Given the description of an element on the screen output the (x, y) to click on. 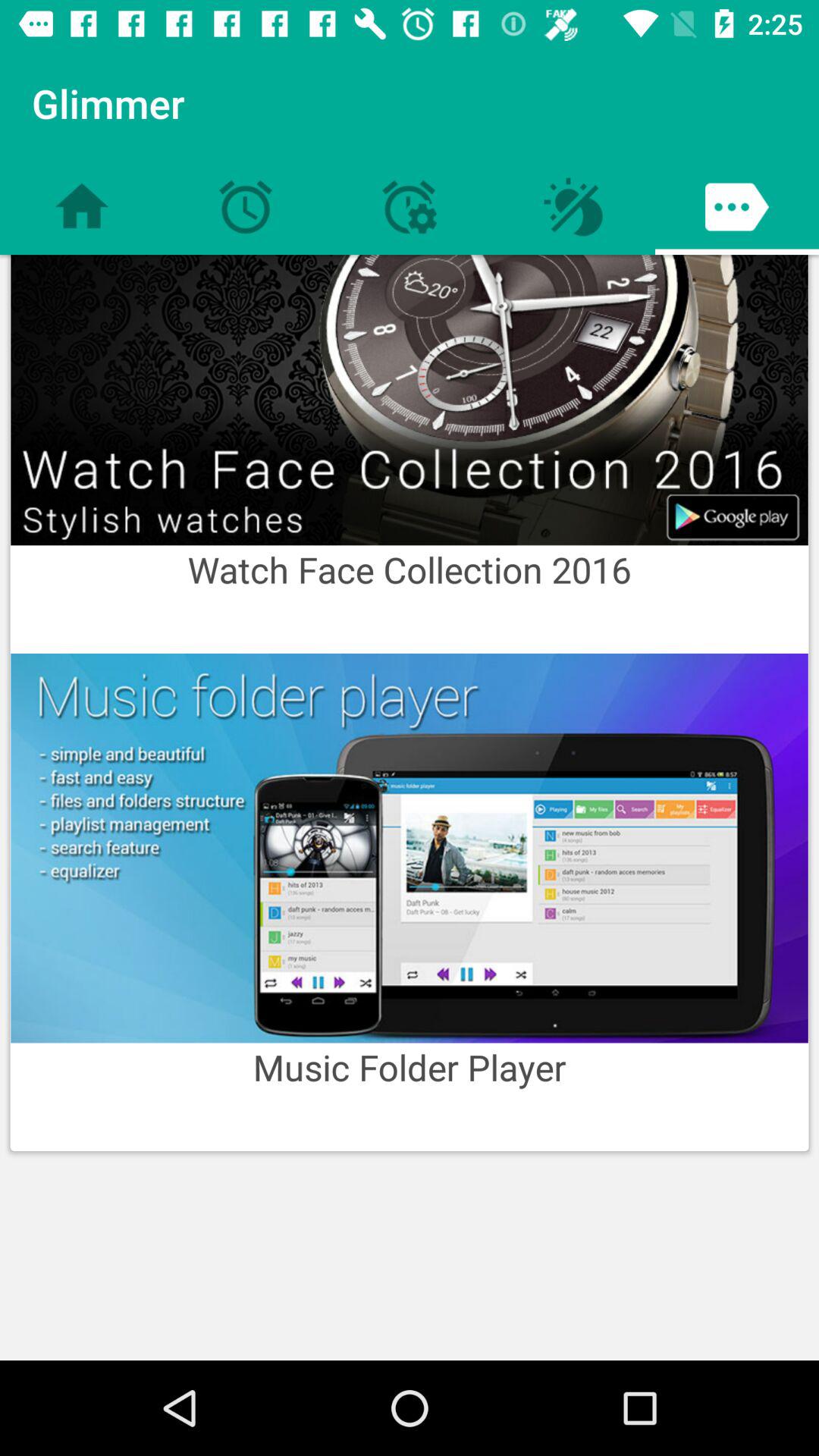
description (409, 848)
